Given the description of an element on the screen output the (x, y) to click on. 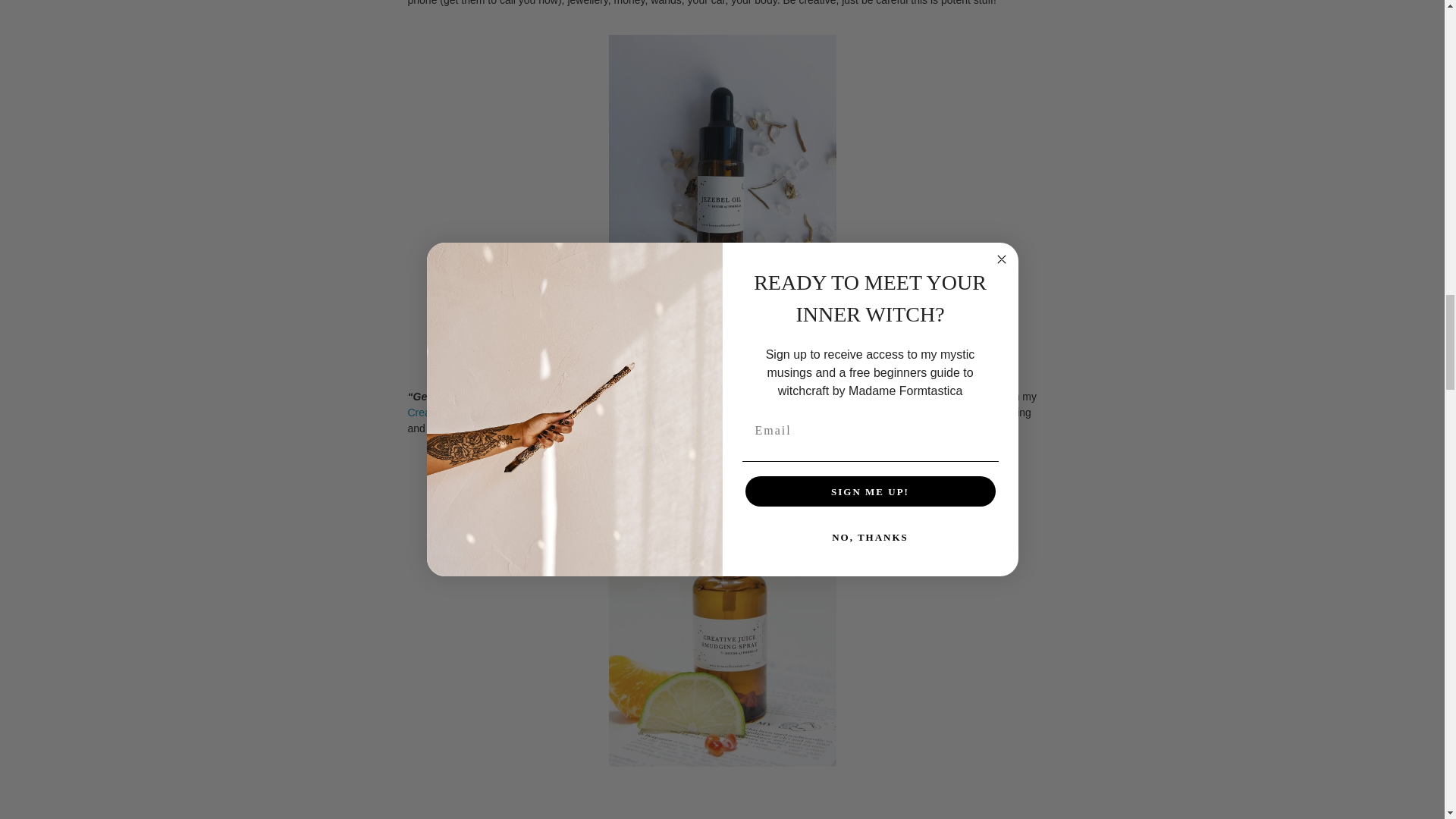
Creative Juice Smudging Spray (481, 412)
